Given the description of an element on the screen output the (x, y) to click on. 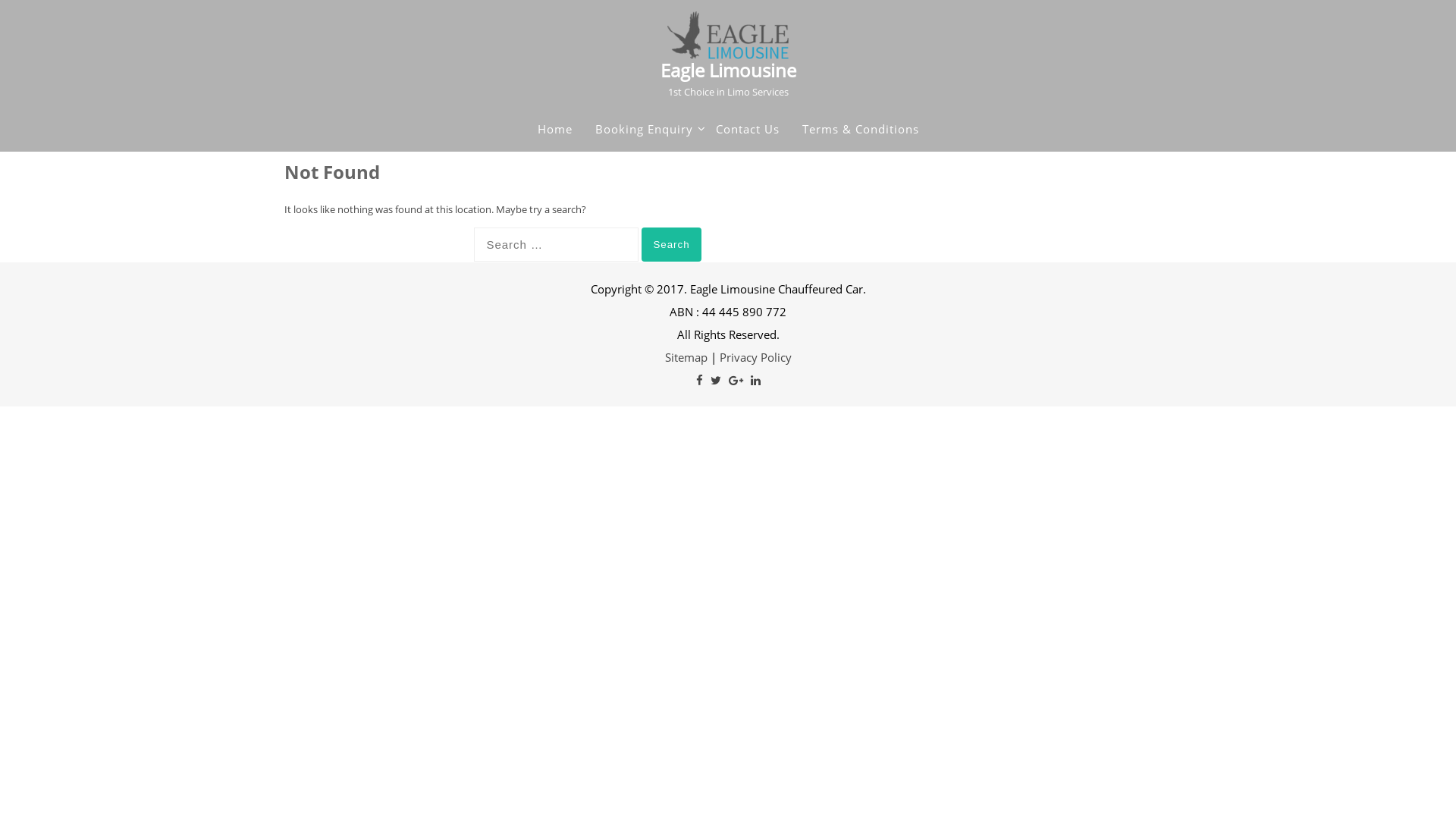
Terms & Conditions Element type: text (860, 128)
Search Element type: text (670, 244)
Home Element type: text (553, 128)
Contact Us Element type: text (747, 128)
Sitemap Element type: text (685, 356)
Privacy Policy Element type: text (754, 356)
Booking Enquiry Element type: text (643, 128)
Eagle Limousine Element type: text (727, 69)
